Given the description of an element on the screen output the (x, y) to click on. 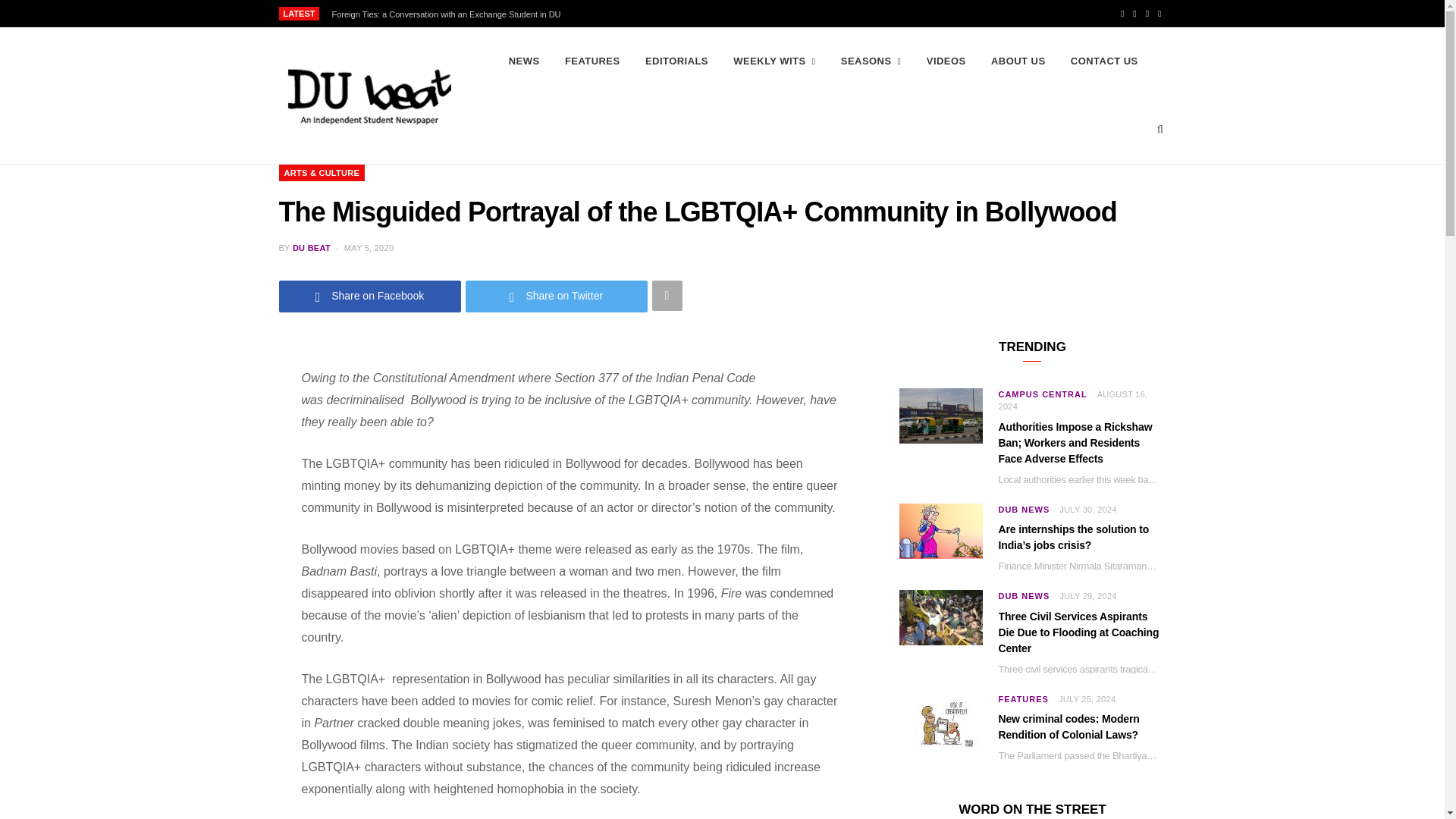
Foreign Ties: a Conversation with an Exchange Student in DU (449, 14)
EDITORIALS (676, 61)
WEEKLY WITS (774, 61)
Foreign Ties: a Conversation with an Exchange Student in DU (449, 14)
FEATURES (592, 61)
